Given the description of an element on the screen output the (x, y) to click on. 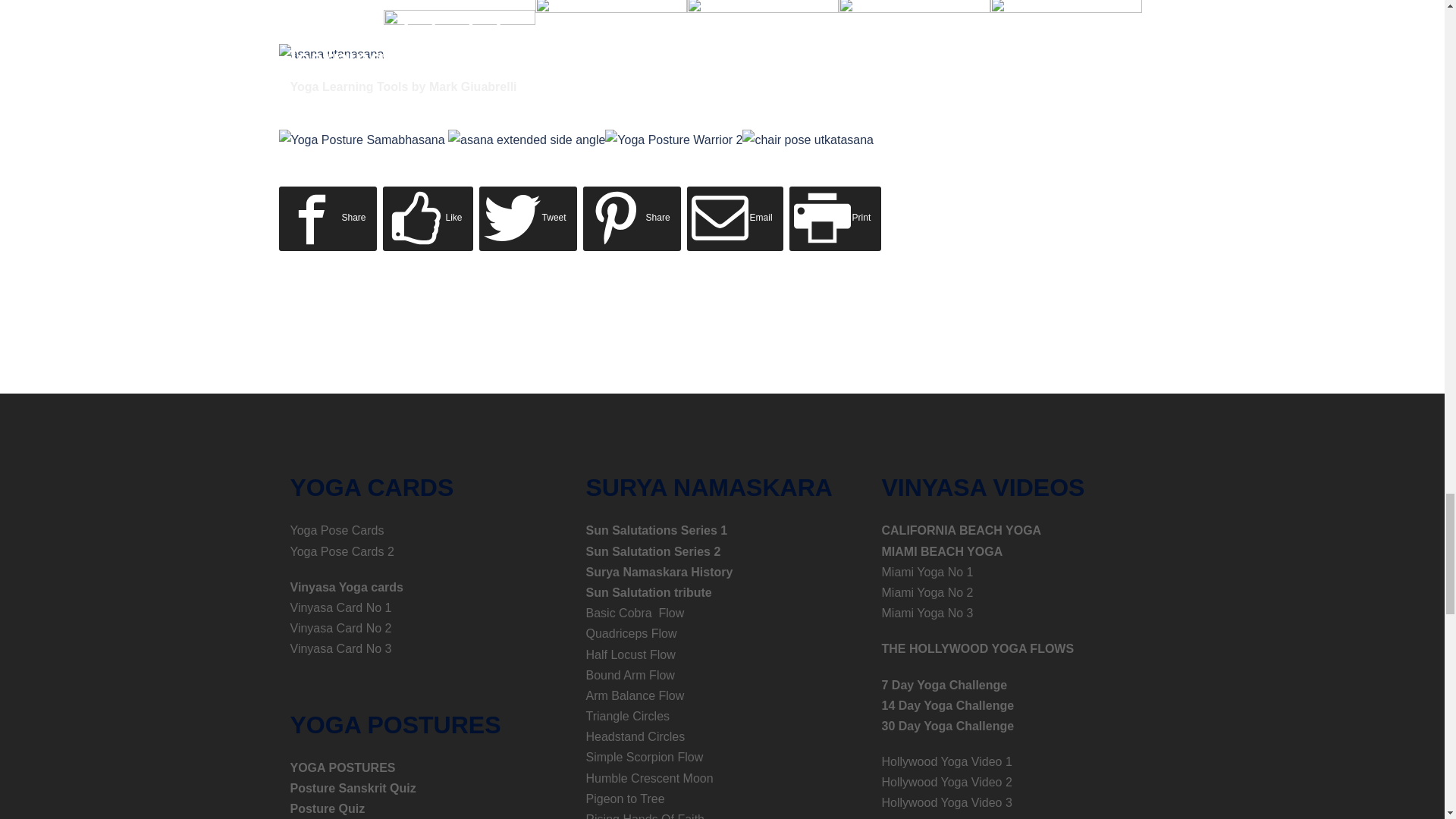
Print via PrintFriendly (835, 217)
Share on Pinterest (632, 217)
Share on Facebook (328, 217)
Send by email (735, 217)
Like on Facebook (427, 217)
Tweet (527, 217)
